Given the description of an element on the screen output the (x, y) to click on. 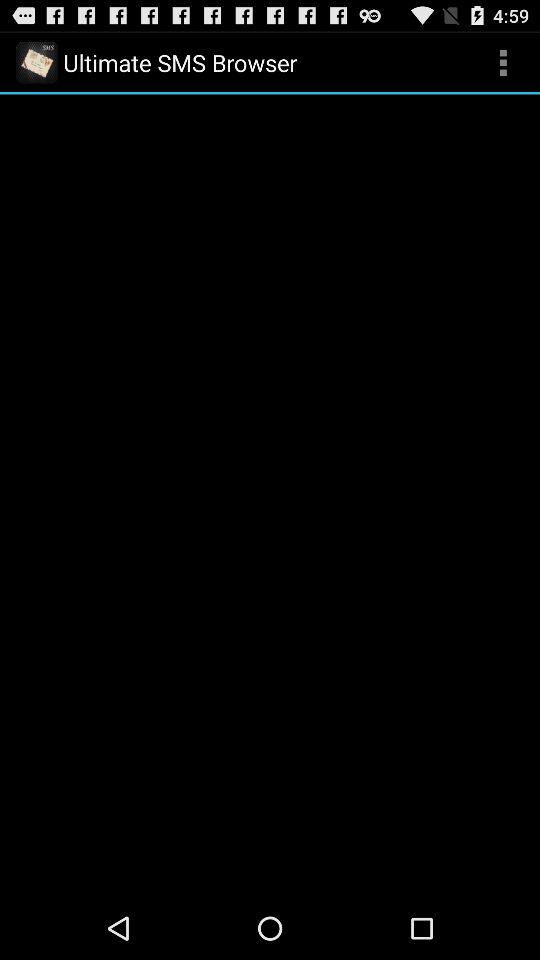
tap icon at the top right corner (503, 62)
